Given the description of an element on the screen output the (x, y) to click on. 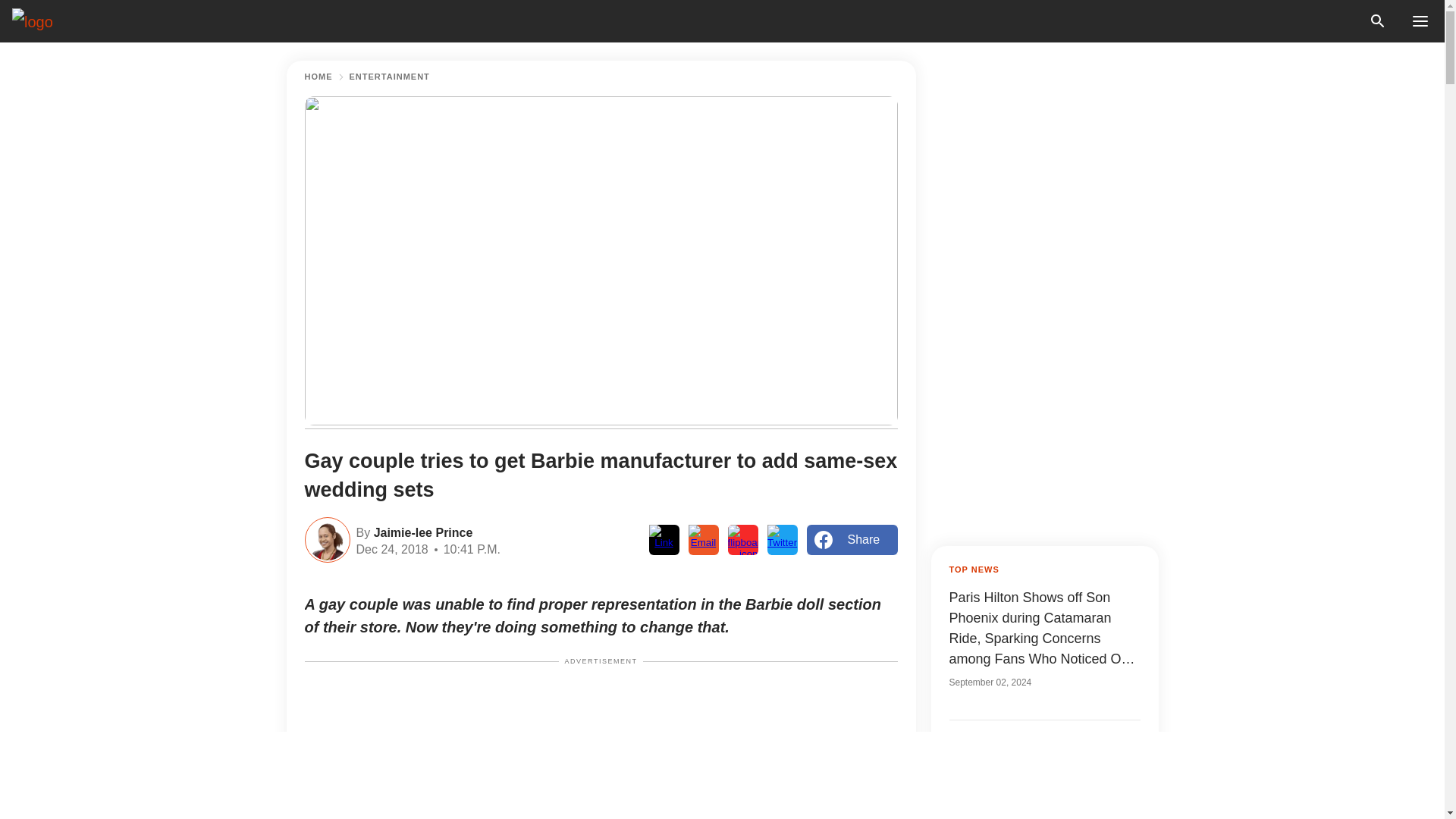
Jaimie-lee Prince (420, 531)
ENTERTAINMENT (389, 76)
HOME (318, 76)
